Given the description of an element on the screen output the (x, y) to click on. 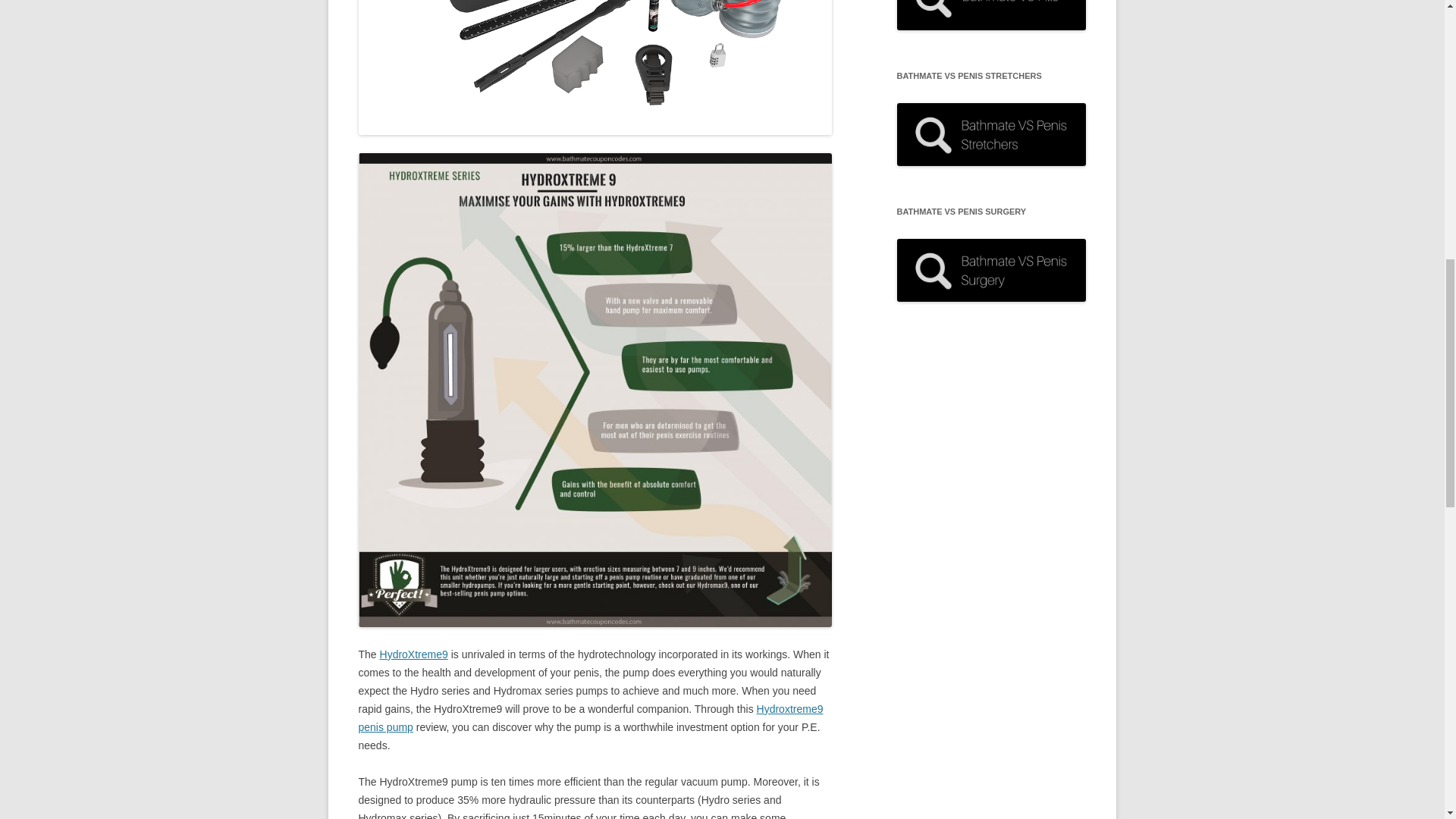
Hydroxtreme9 penis pump (590, 717)
Bathmate VS Penis Stretchers (991, 134)
Bathmate VS Penis Surgery (991, 270)
HydroXtreme9 (414, 654)
Bathmate VS Pills (991, 14)
